Given the description of an element on the screen output the (x, y) to click on. 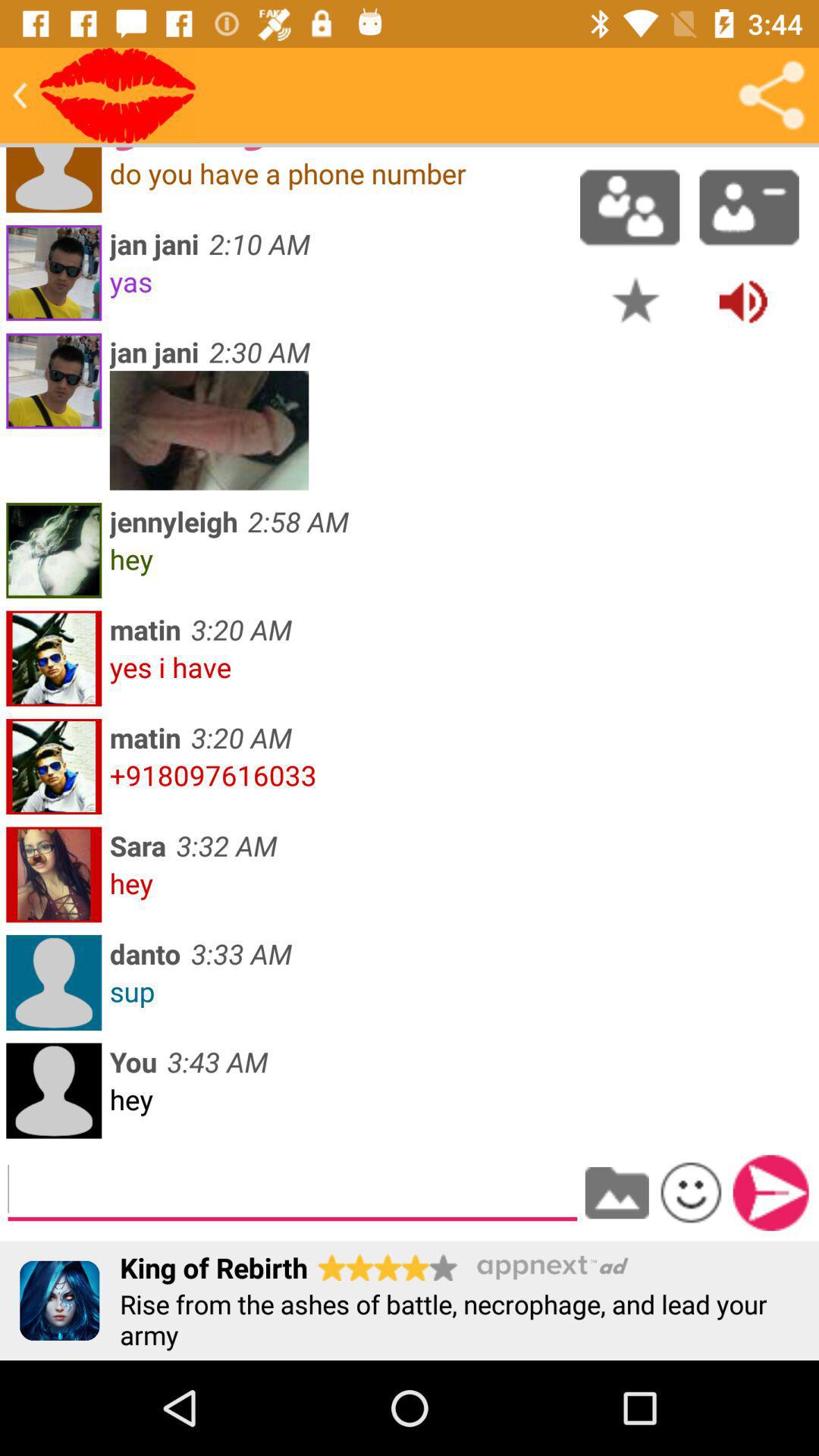
attach images (616, 1192)
